Given the description of an element on the screen output the (x, y) to click on. 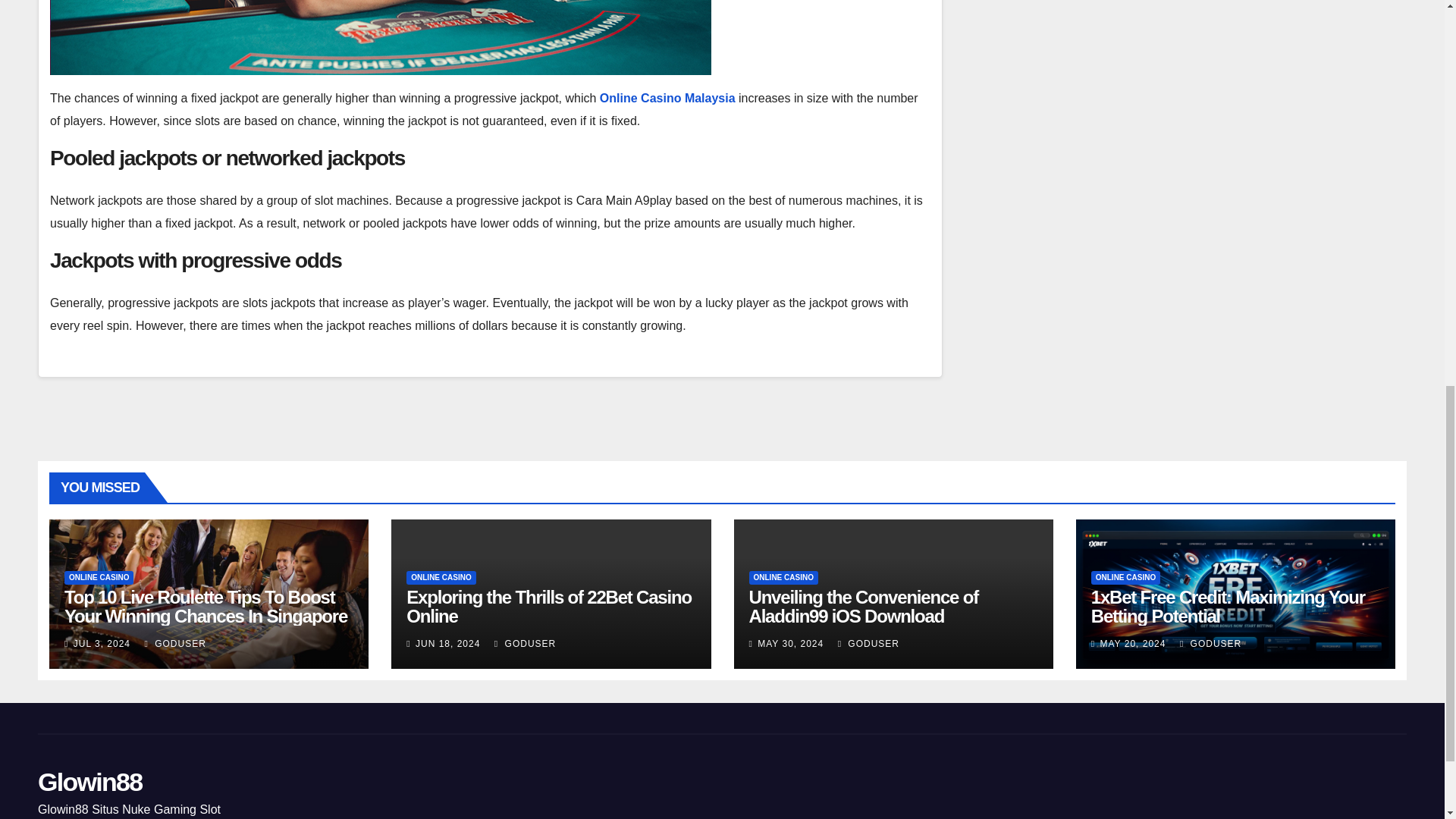
JUN 18, 2024 (447, 643)
GODUSER (174, 643)
1xBet Free Credit: Maximizing Your Betting Potential (1227, 606)
GODUSER (868, 643)
Unveiling the Convenience of Aladdin99 iOS Download (863, 606)
ONLINE CASINO (783, 577)
MAY 20, 2024 (1132, 643)
MAY 30, 2024 (790, 643)
ONLINE CASINO (441, 577)
JUL 3, 2024 (102, 643)
Exploring the Thrills of 22Bet Casino Online (548, 606)
